Given the description of an element on the screen output the (x, y) to click on. 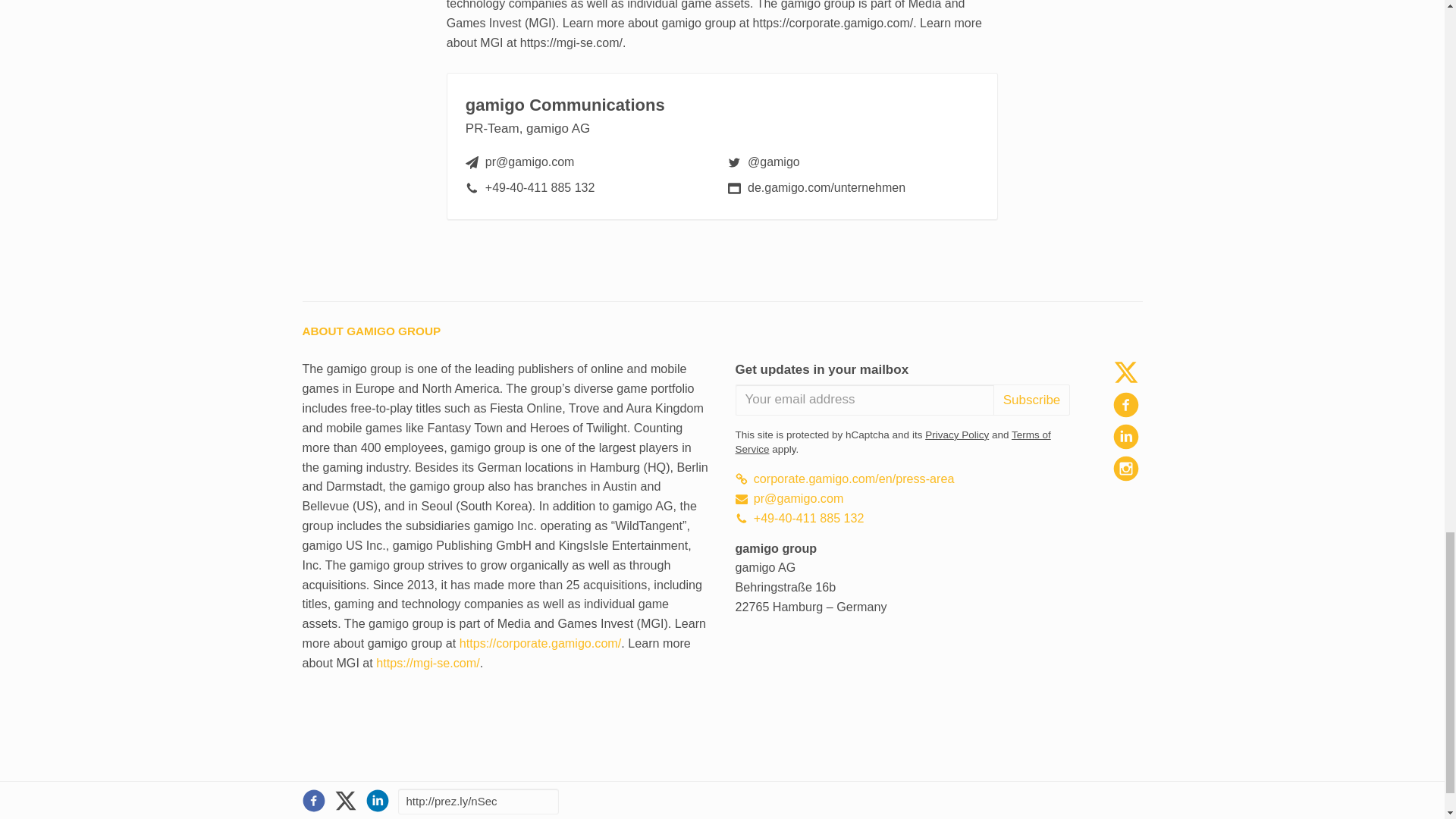
gamigo group Twitter (1125, 371)
Privacy Policy (956, 434)
Terms of Service (893, 442)
gamigo group Linkedin (1125, 436)
gamigo group Facebook (1125, 403)
Start using cookies (349, 793)
gamigo group Instagram (1125, 468)
Subscribe (1031, 399)
